Given the description of an element on the screen output the (x, y) to click on. 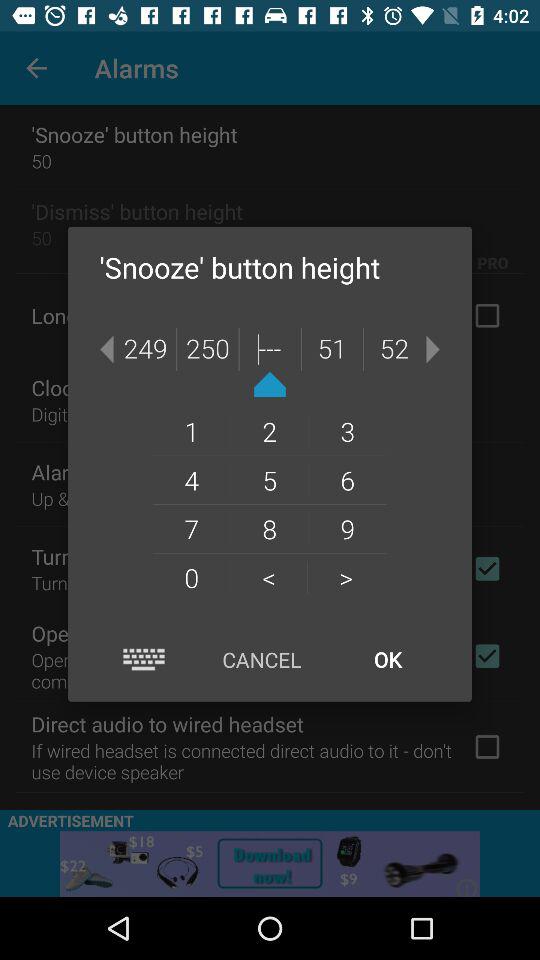
choose item to the right of the 8 (345, 577)
